Given the description of an element on the screen output the (x, y) to click on. 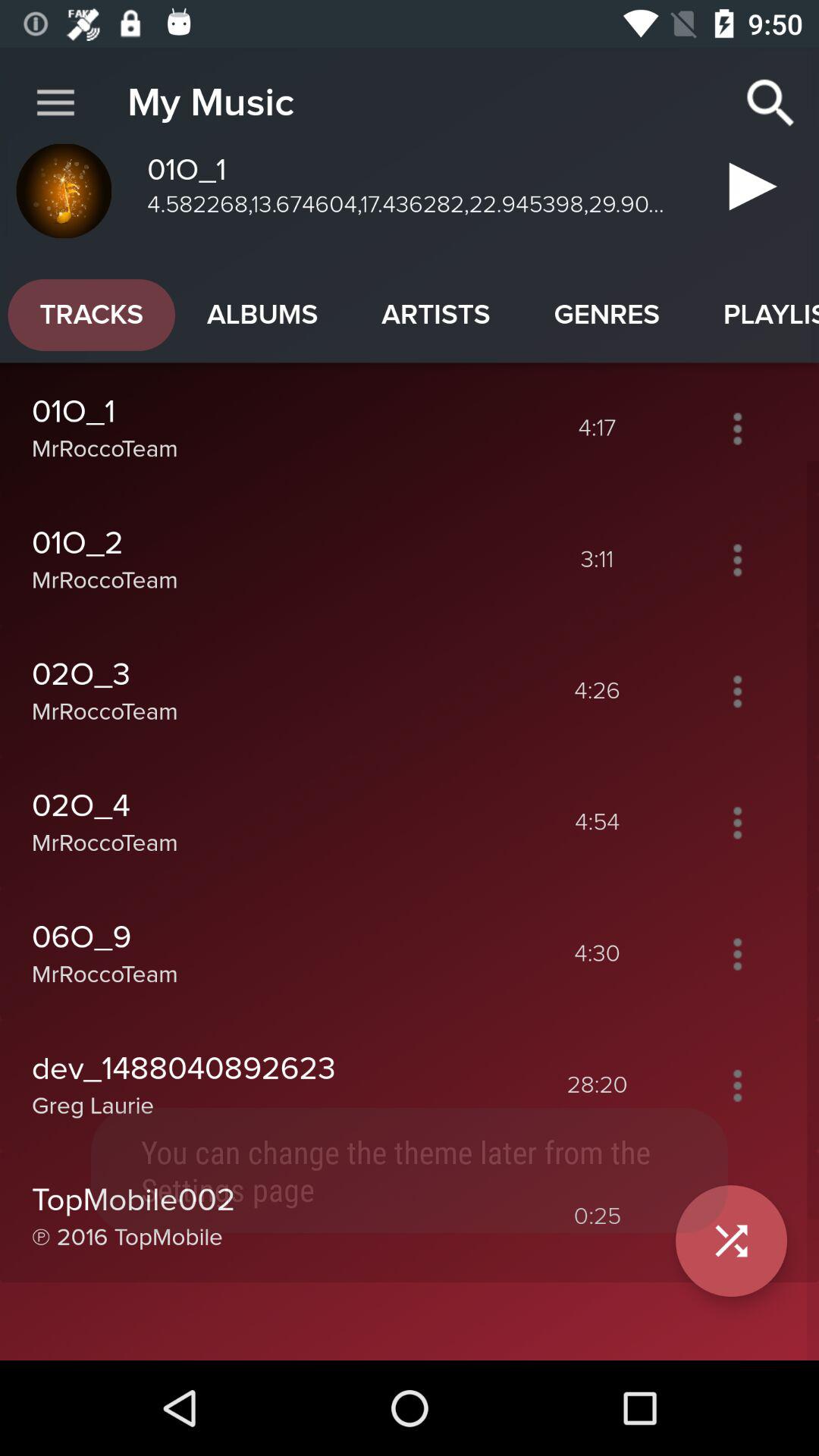
choose the item above the 01o_1 icon (262, 314)
